Given the description of an element on the screen output the (x, y) to click on. 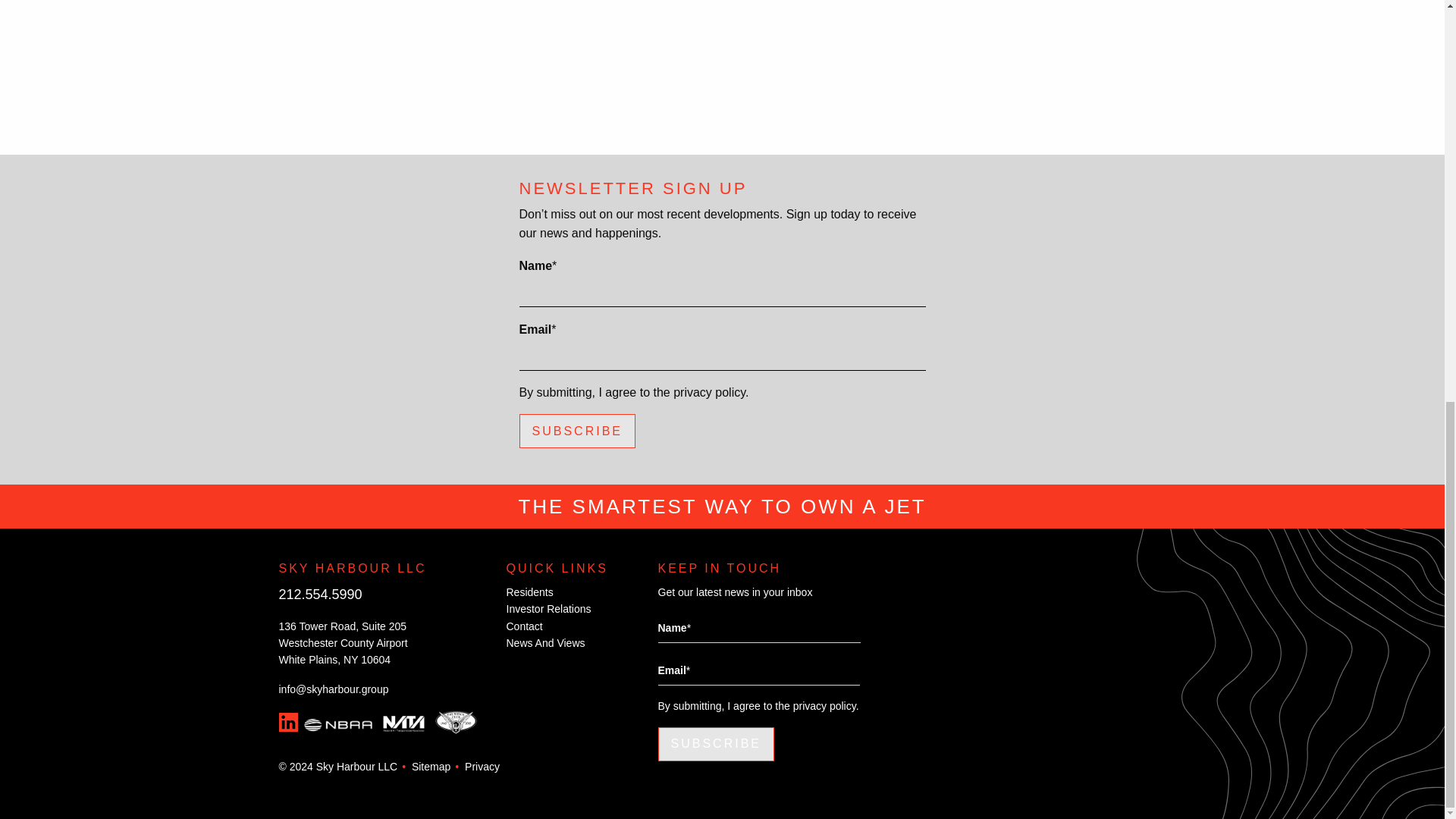
212.554.5990 (320, 594)
Subscribe (716, 744)
News And Views (545, 643)
Subscribe (716, 744)
Contact (524, 625)
Privacy (481, 766)
Investor Relations (548, 608)
Subscribe (576, 430)
Residents (529, 592)
Sitemap (430, 766)
Subscribe (576, 430)
